Given the description of an element on the screen output the (x, y) to click on. 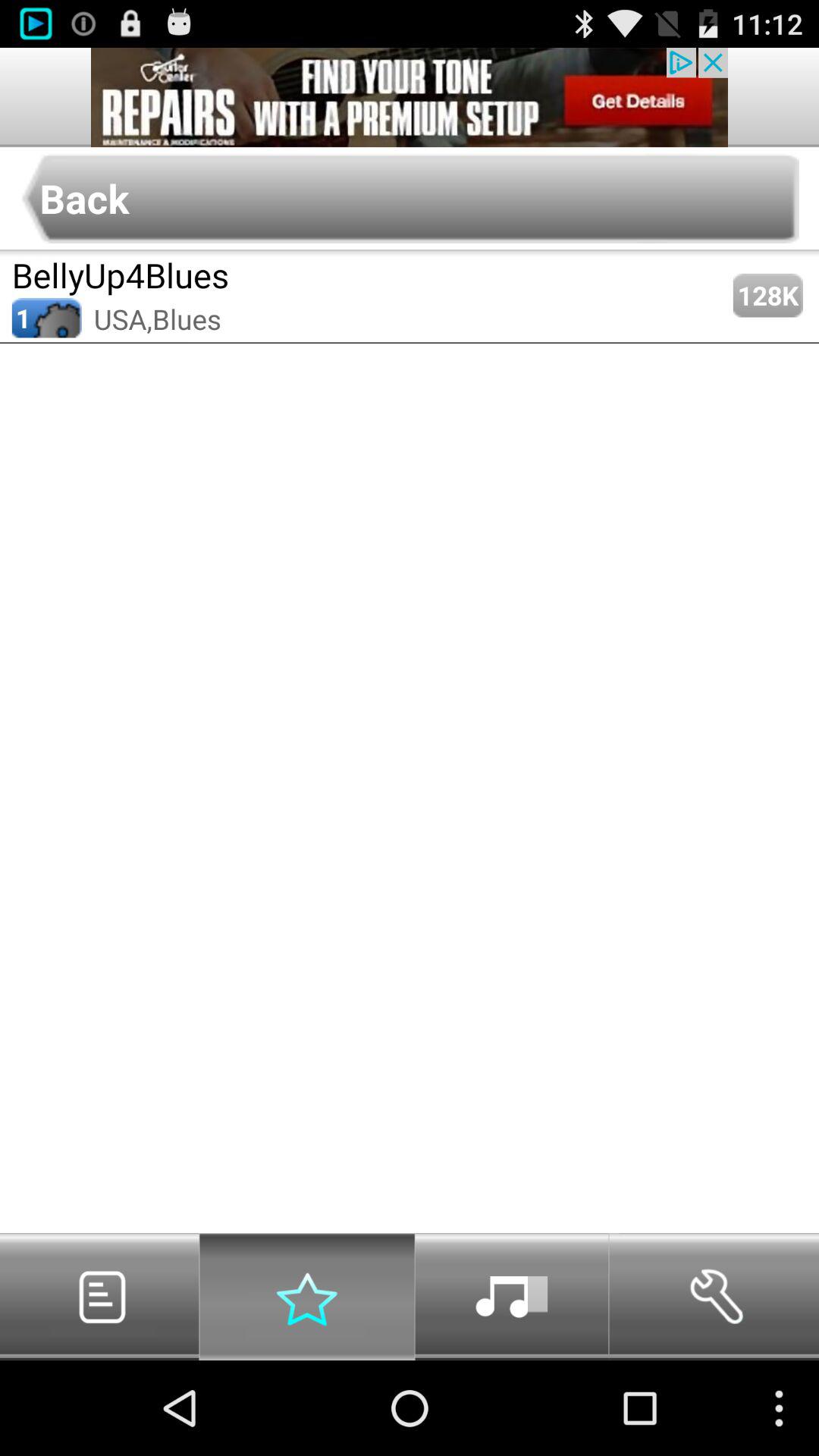
click on advertisement (409, 97)
